Given the description of an element on the screen output the (x, y) to click on. 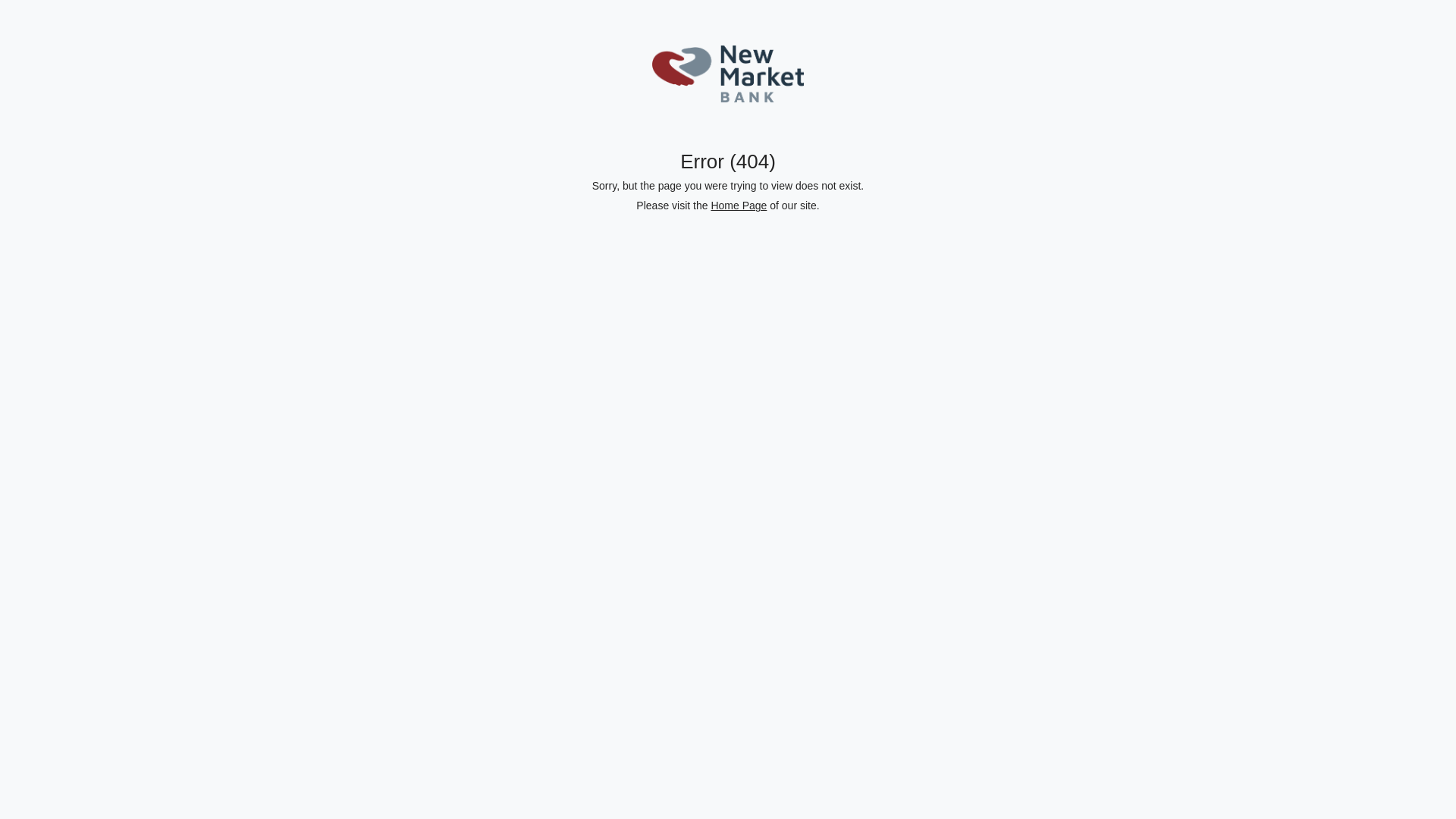
Home Page Element type: text (738, 205)
